Given the description of an element on the screen output the (x, y) to click on. 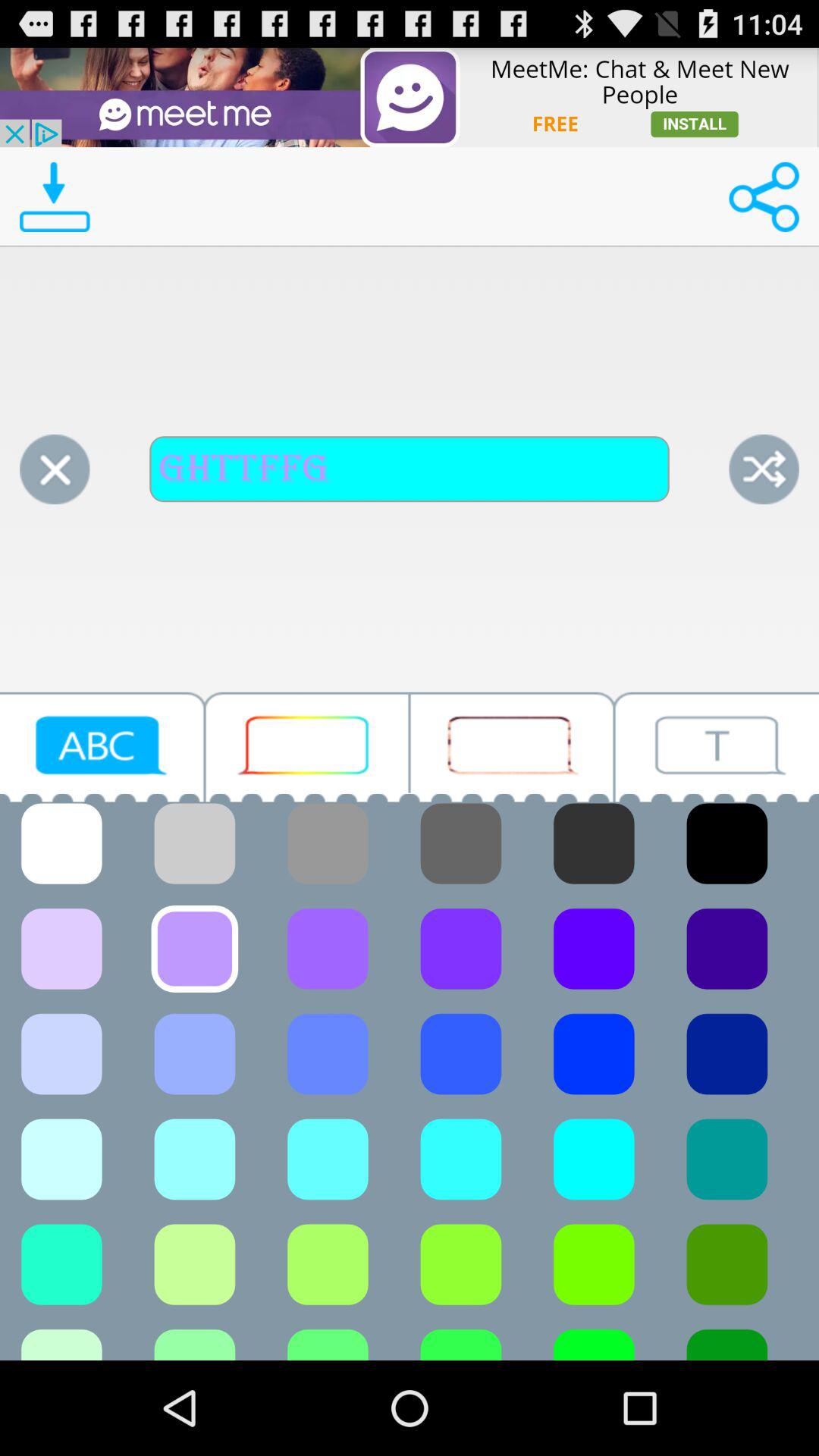
share (764, 197)
